Given the description of an element on the screen output the (x, y) to click on. 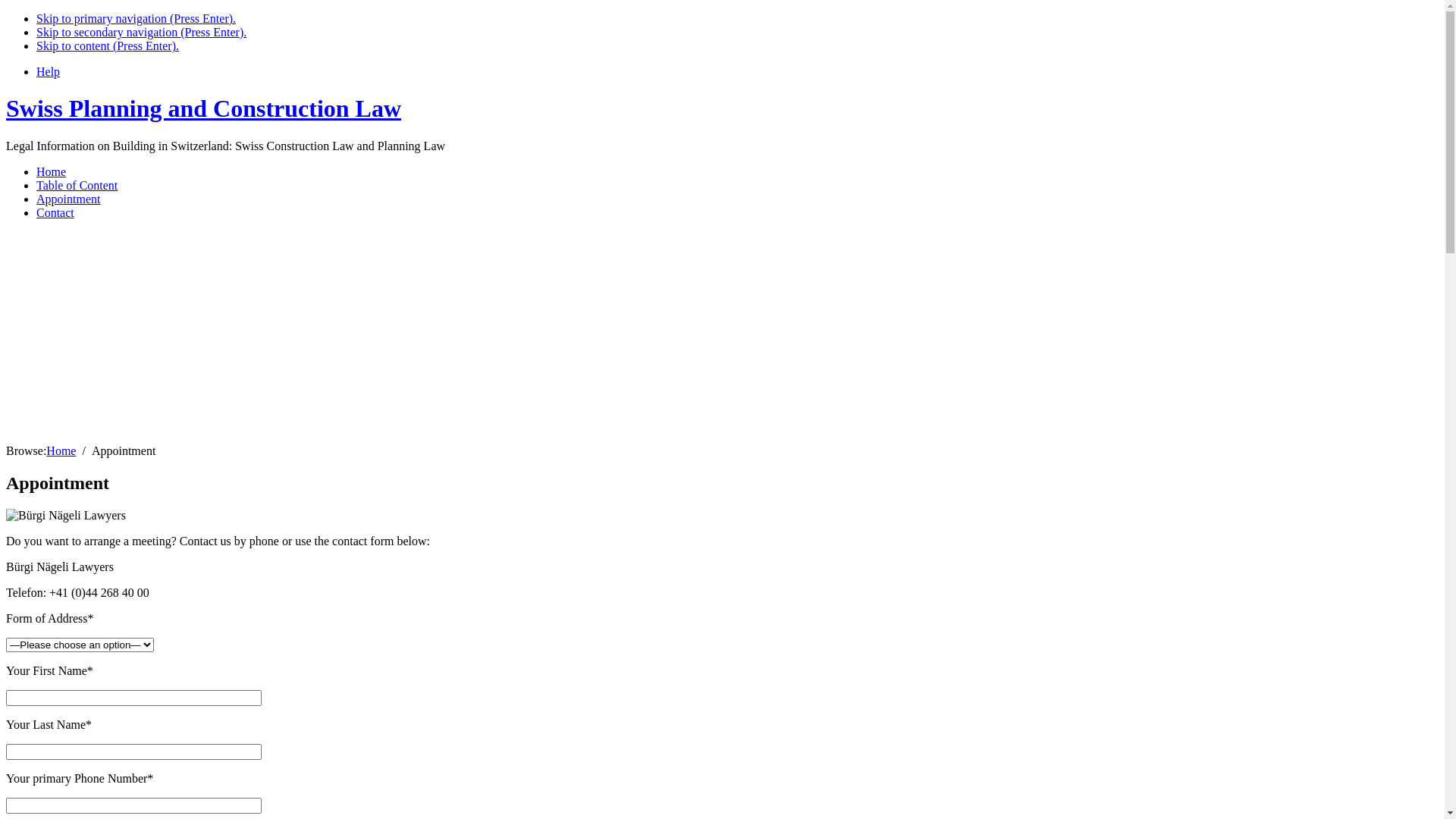
Advertisement Element type: hover (461, 338)
Appointment Element type: text (68, 198)
Home Element type: text (60, 450)
Help Element type: text (47, 71)
Skip to secondary navigation (Press Enter). Element type: text (141, 31)
Skip to content (Press Enter). Element type: text (107, 45)
Skip to primary navigation (Press Enter). Element type: text (135, 18)
Swiss Planning and Construction Law Element type: text (203, 108)
Table of Content Element type: text (76, 184)
Contact Element type: text (55, 212)
Home Element type: text (50, 171)
